Given the description of an element on the screen output the (x, y) to click on. 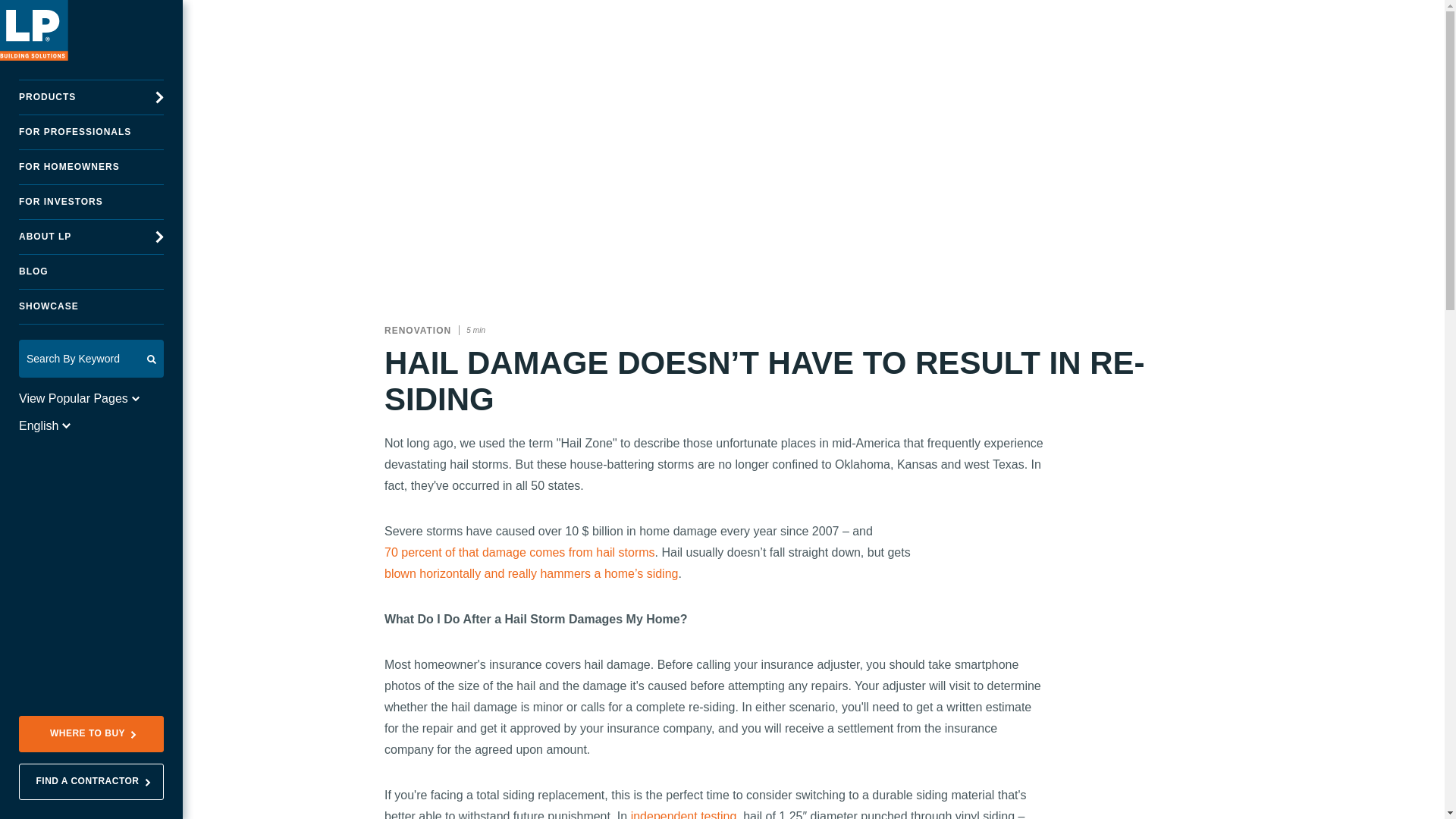
BLOG (90, 271)
SHOWCASE (90, 306)
FIND A CONTRACTOR (90, 781)
FOR INVESTORS (90, 202)
WHERE TO BUY (90, 733)
FOR PROFESSIONALS (90, 132)
FOR HOMEOWNERS (90, 166)
